Given the description of an element on the screen output the (x, y) to click on. 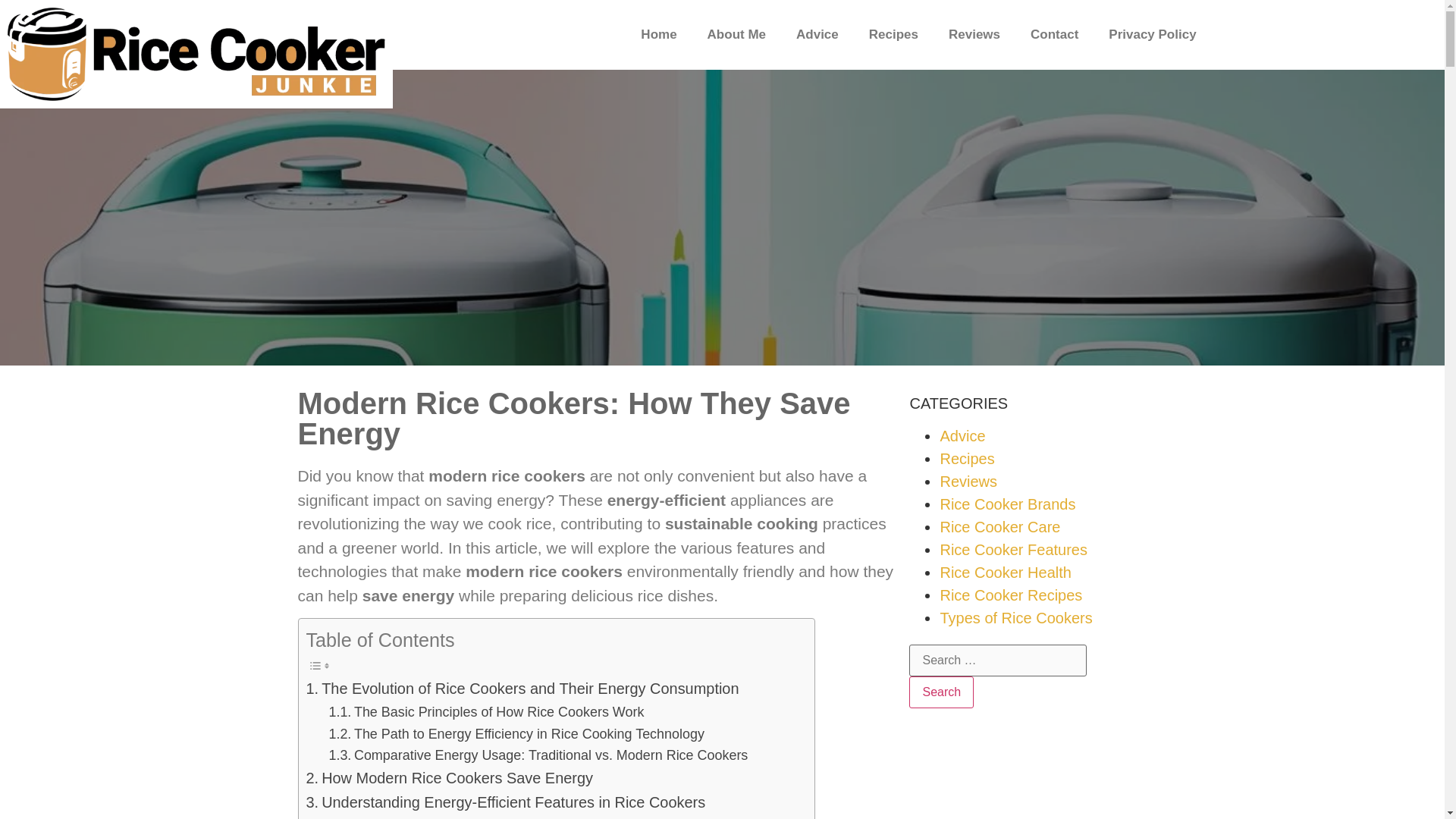
Contact (1053, 34)
Understanding Energy-Efficient Features in Rice Cookers (505, 802)
Privacy Policy (1152, 34)
Advice (816, 34)
Insulated Design to Retain Heat (437, 816)
Understanding Energy-Efficient Features in Rice Cookers (505, 802)
Home (658, 34)
How Modern Rice Cookers Save Energy (449, 778)
The Evolution of Rice Cookers and Their Energy Consumption (522, 689)
Recipes (893, 34)
